Given the description of an element on the screen output the (x, y) to click on. 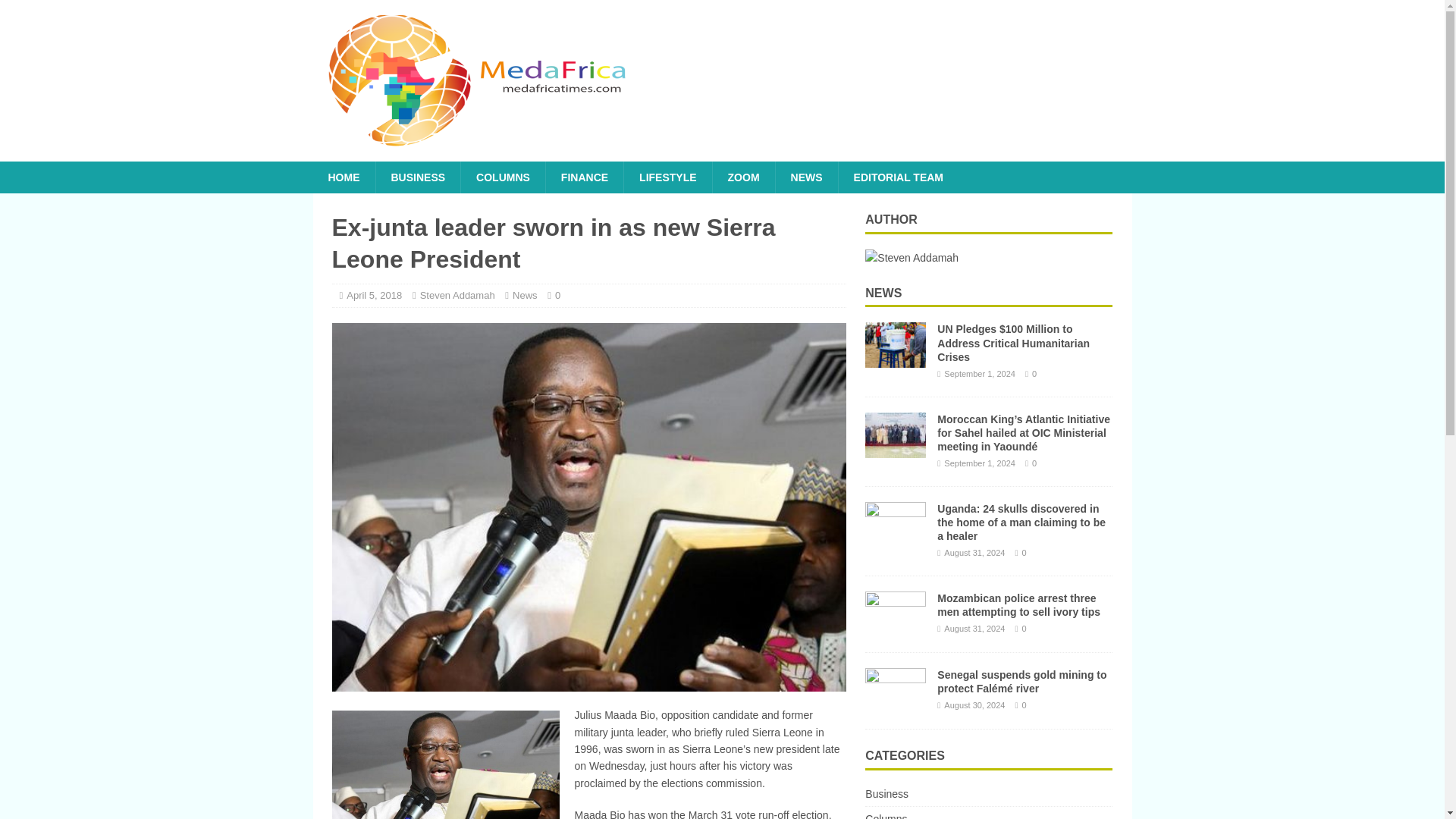
EDITORIAL TEAM (898, 177)
FINANCE (583, 177)
COLUMNS (502, 177)
NEWS (806, 177)
NEWS (882, 292)
BUSINESS (417, 177)
ZOOM (742, 177)
